Given the description of an element on the screen output the (x, y) to click on. 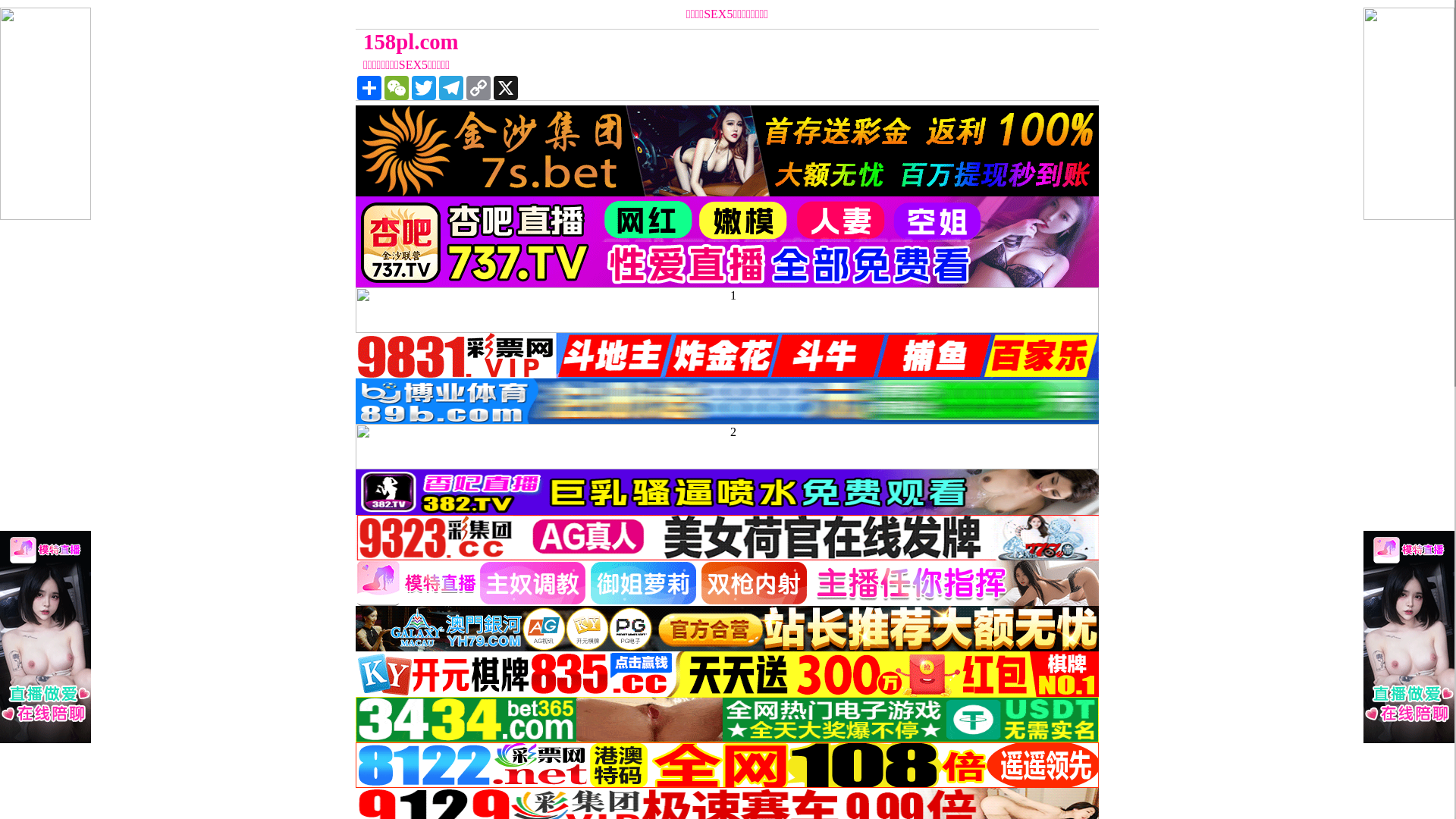
WeChat Element type: text (396, 87)
X Element type: text (505, 87)
158pl.com Element type: text (634, 41)
Telegram Element type: text (450, 87)
Twitter Element type: text (423, 87)
Copy Link Element type: text (478, 87)
